Given the description of an element on the screen output the (x, y) to click on. 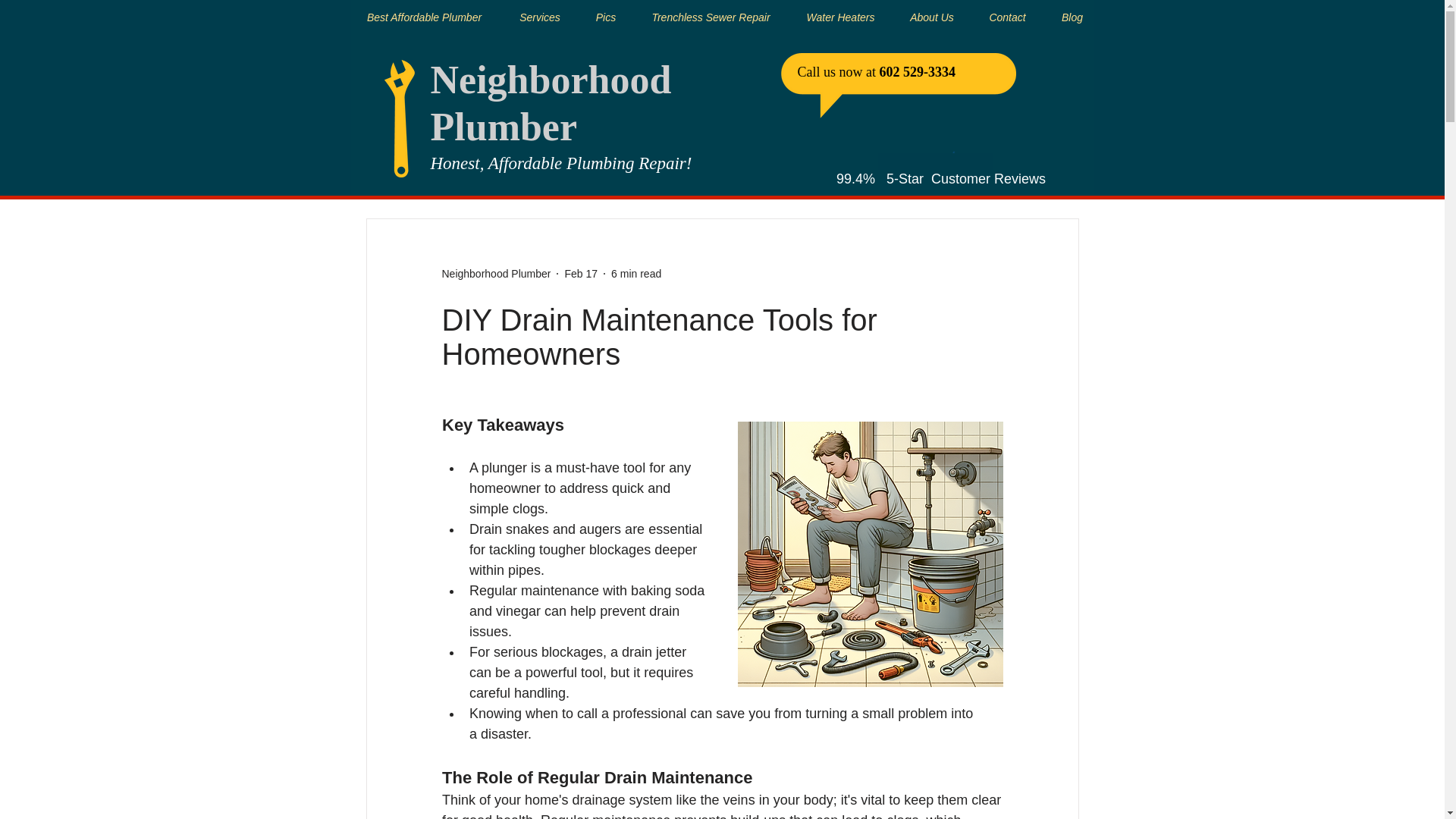
Services (540, 10)
Trenchless Sewer Repair (711, 10)
Blog (1071, 10)
6 min read (636, 273)
Neighborhood Plumber (495, 273)
Embedded Content (940, 157)
Contact (1007, 10)
About Us (932, 10)
Call us now at 602 529-3334 (876, 71)
Water Heaters (841, 10)
Neighborhood Plumber (550, 103)
Best Affordable Plumber (424, 10)
Feb 17 (580, 273)
Pics (605, 10)
